Given the description of an element on the screen output the (x, y) to click on. 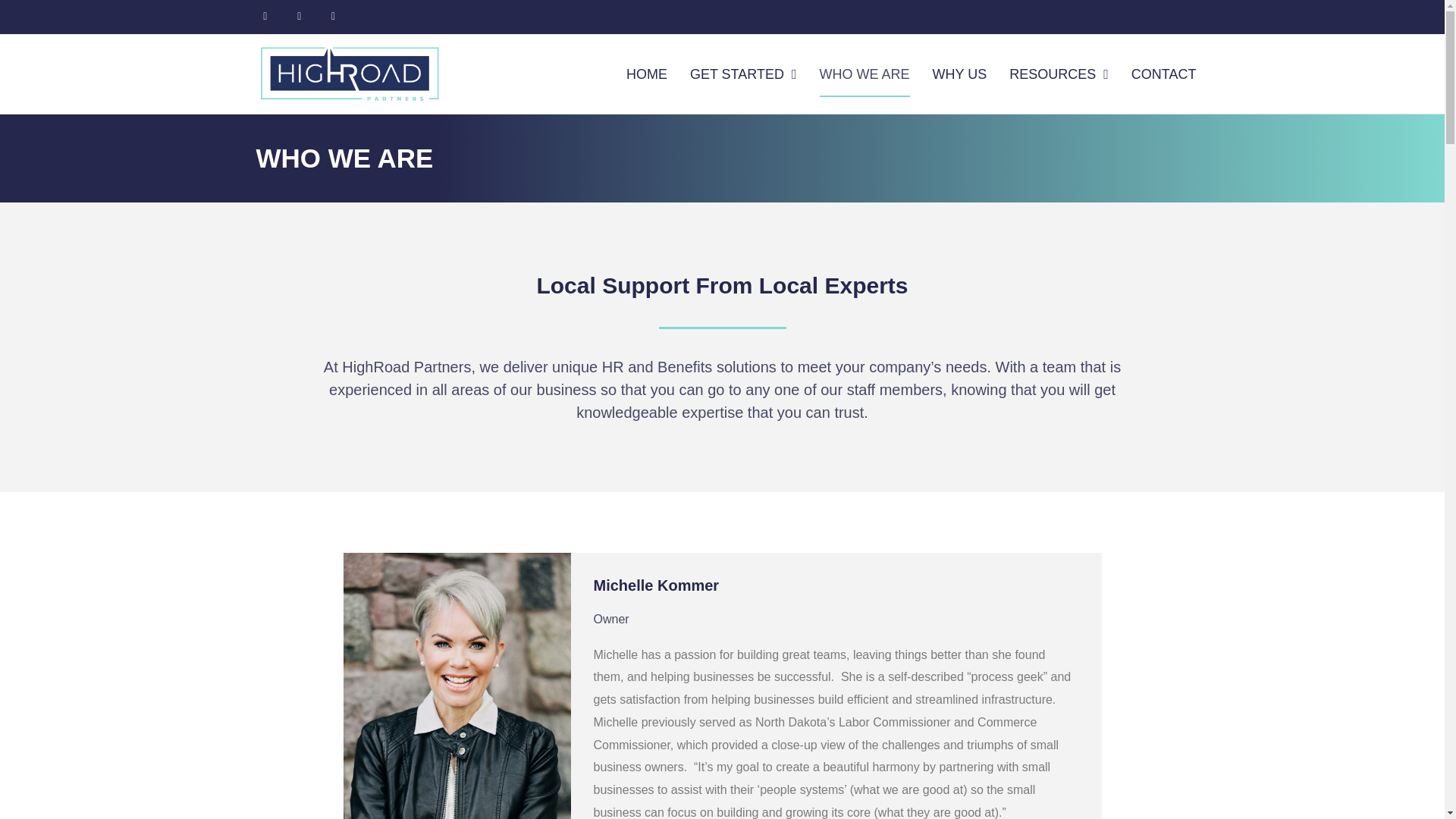
HOME (646, 74)
GET STARTED (743, 74)
Instagram (332, 17)
Linkedin (265, 17)
Facebook-f (298, 17)
CONTACT (1163, 74)
WHO WE ARE (864, 74)
WHY US (960, 74)
RESOURCES (1058, 74)
